Given the description of an element on the screen output the (x, y) to click on. 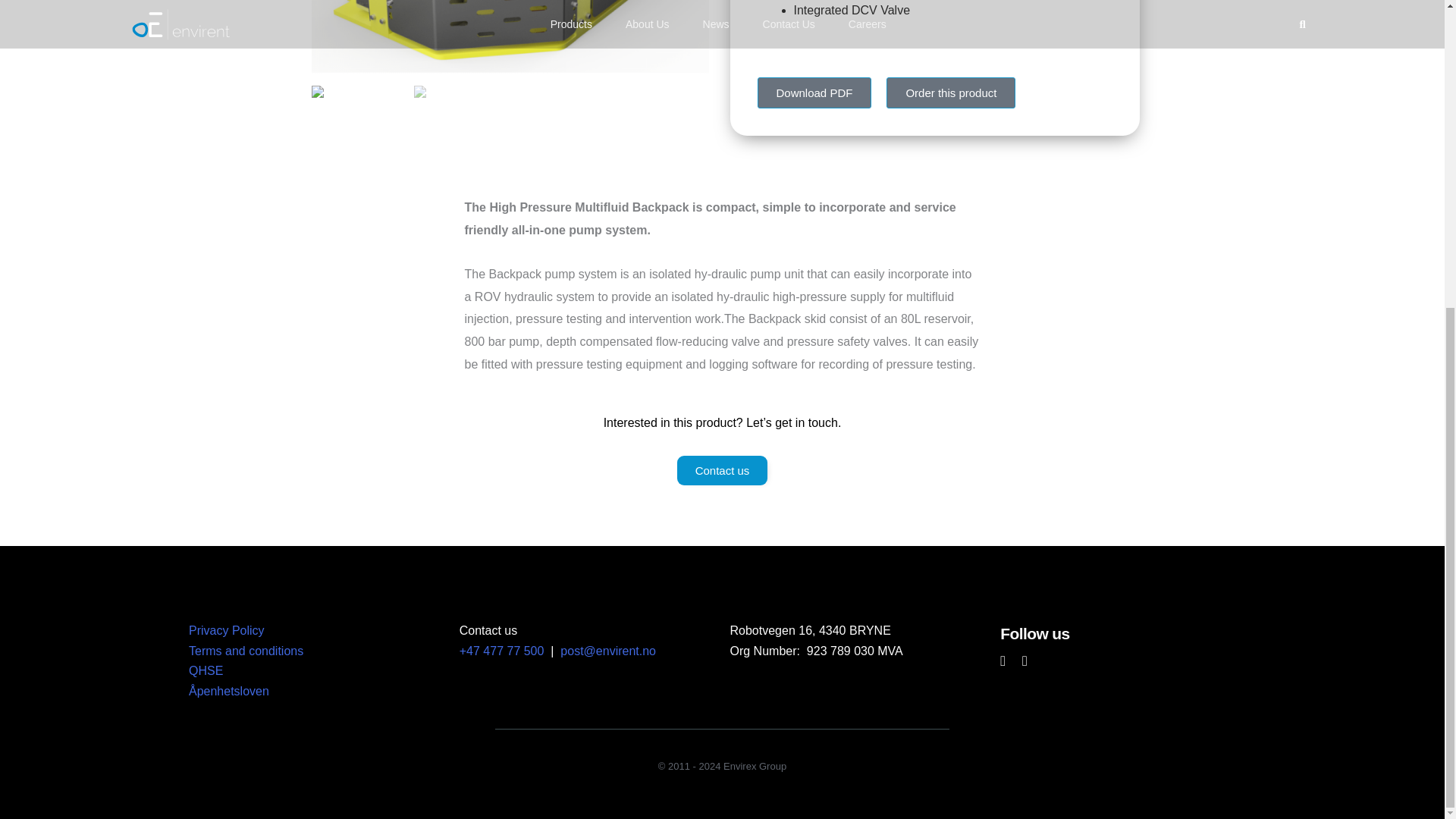
Privacy Policy (226, 630)
Contact us (722, 470)
Download PDF (813, 92)
Order this product (950, 92)
Terms and conditions (245, 650)
QHSE (205, 670)
Backpack-2-600x600 (509, 36)
